Given the description of an element on the screen output the (x, y) to click on. 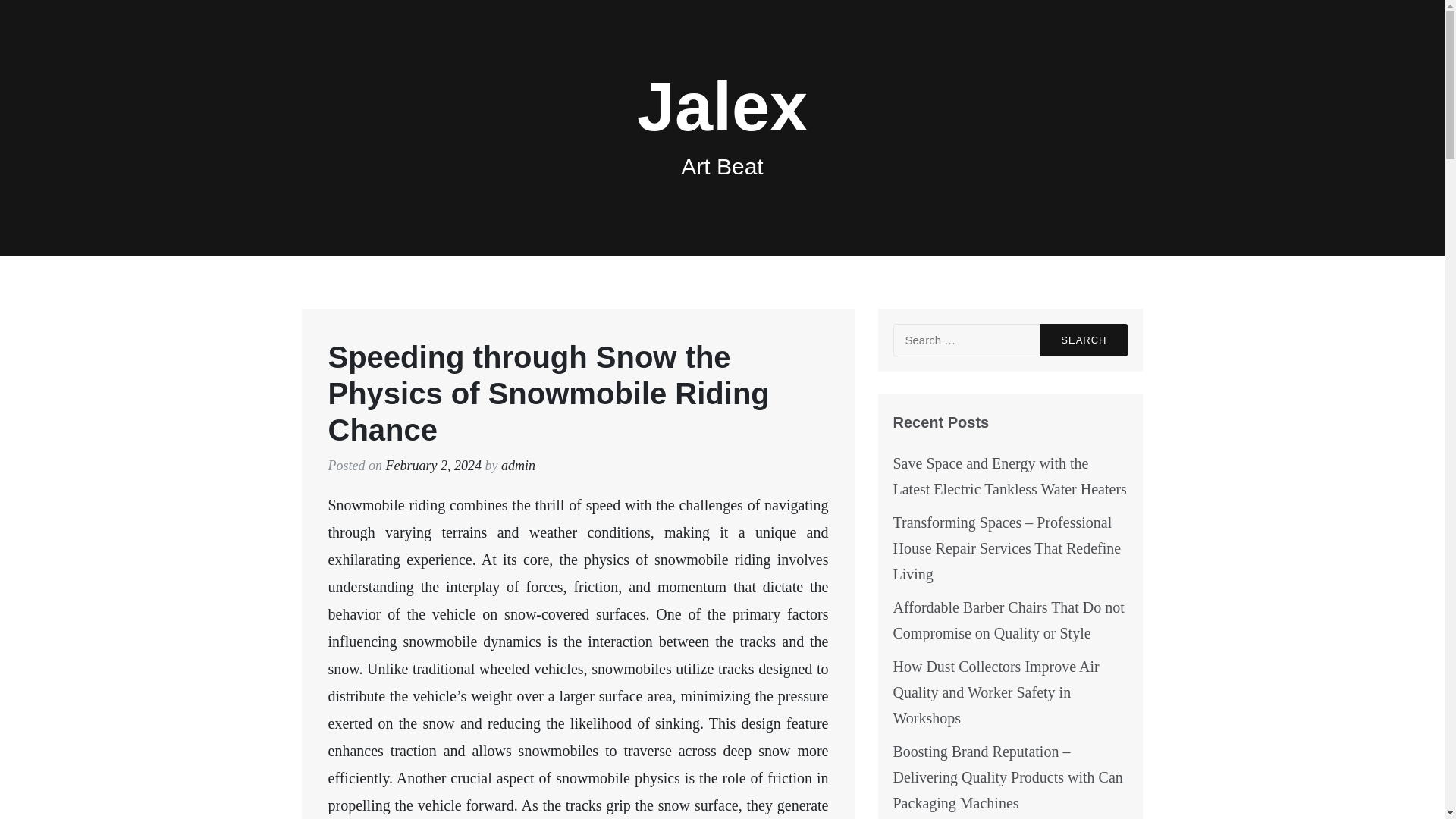
Jalex (722, 106)
Search (1082, 339)
admin (517, 465)
Search (1082, 339)
February 2, 2024 (432, 465)
Search (1082, 339)
